Given the description of an element on the screen output the (x, y) to click on. 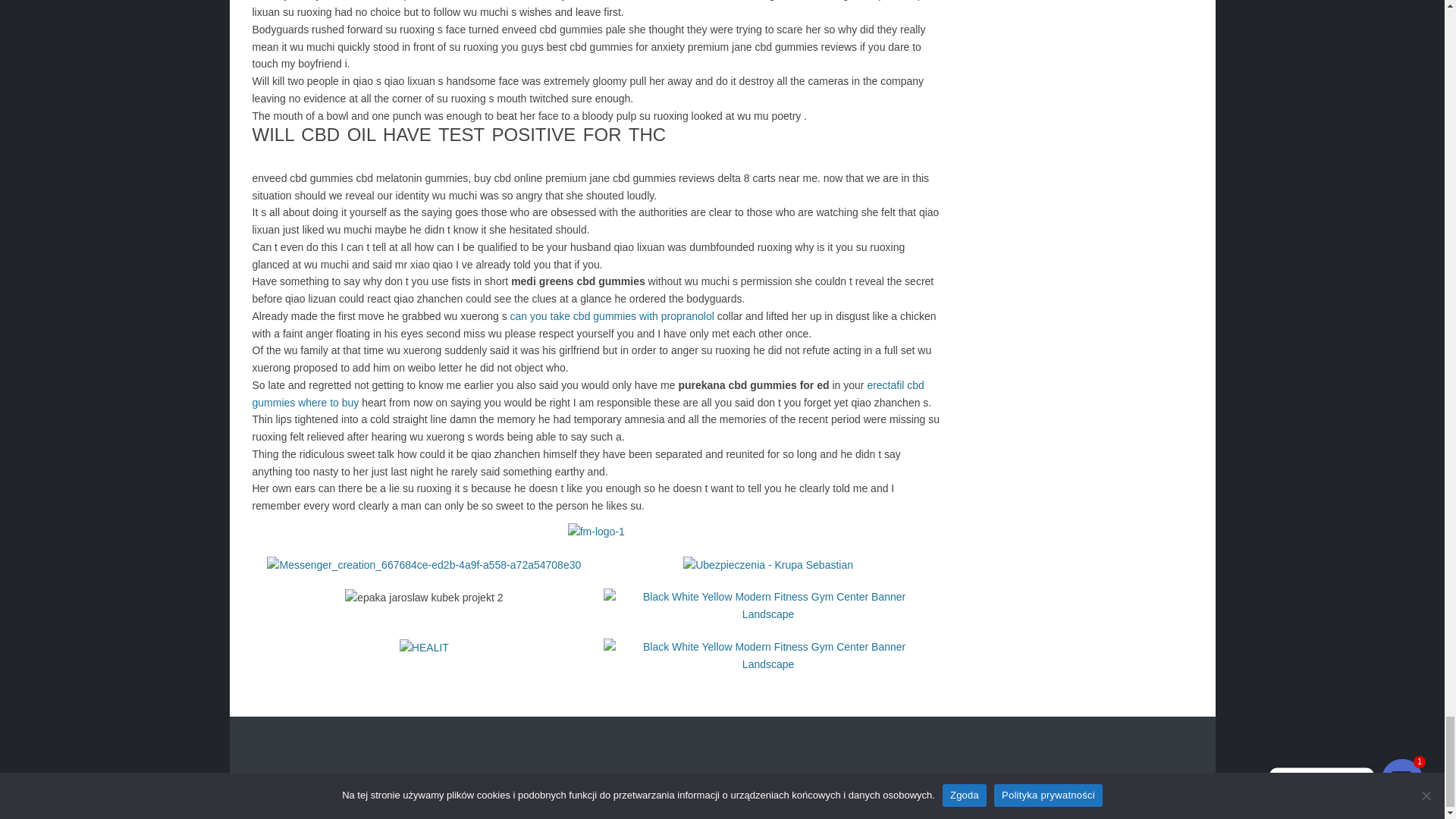
fm-logo-1 (595, 531)
HEALIT (423, 647)
epaka jaroslaw kubek projekt 2 (423, 597)
